Given the description of an element on the screen output the (x, y) to click on. 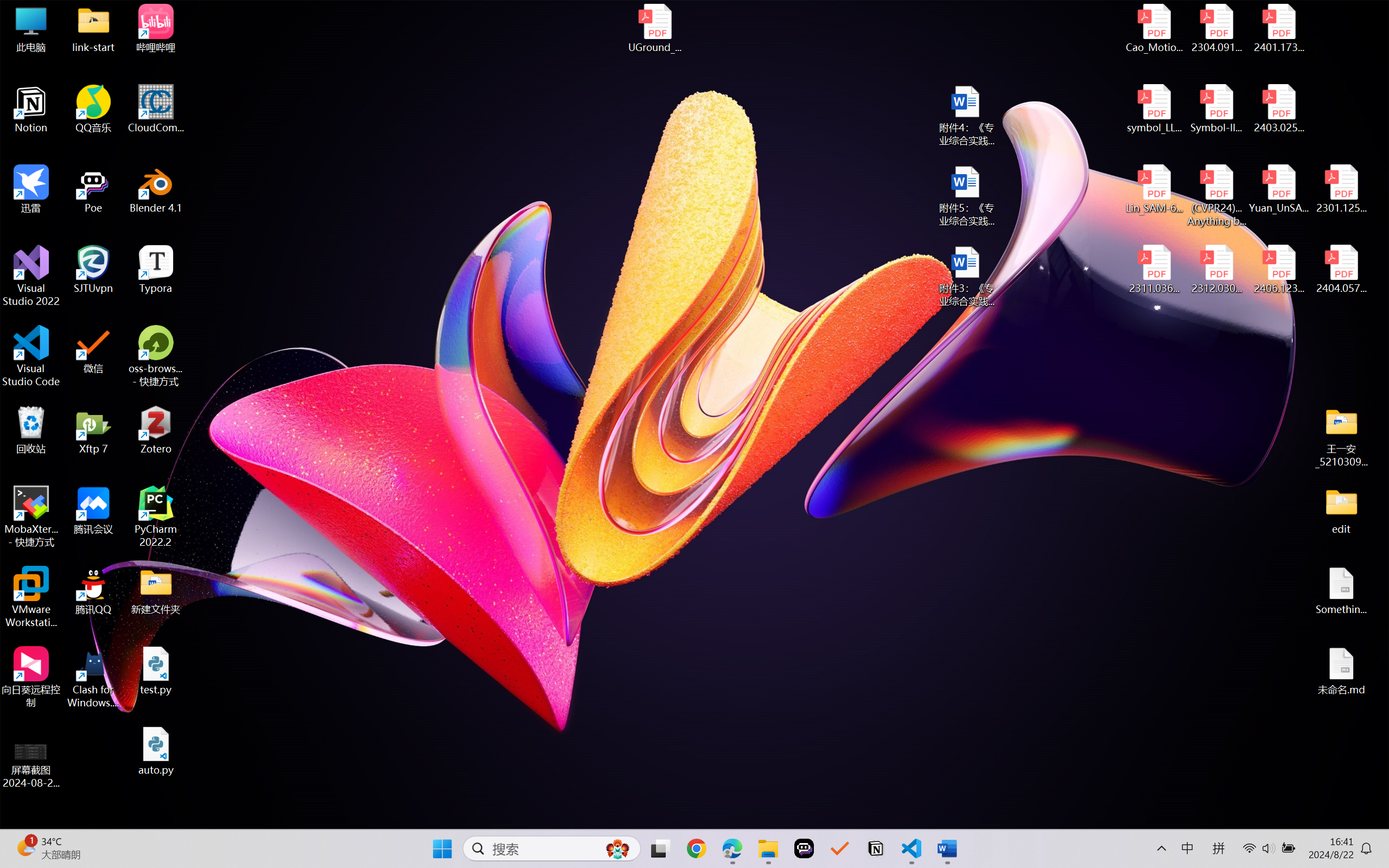
Symbol-llm-v2.pdf (1216, 109)
Notion (31, 109)
2404.05719v1.pdf (1340, 269)
PyCharm 2022.2 (156, 516)
Visual Studio Code (31, 355)
symbol_LLM.pdf (1154, 109)
2406.12373v2.pdf (1278, 269)
Poe (804, 848)
